Given the description of an element on the screen output the (x, y) to click on. 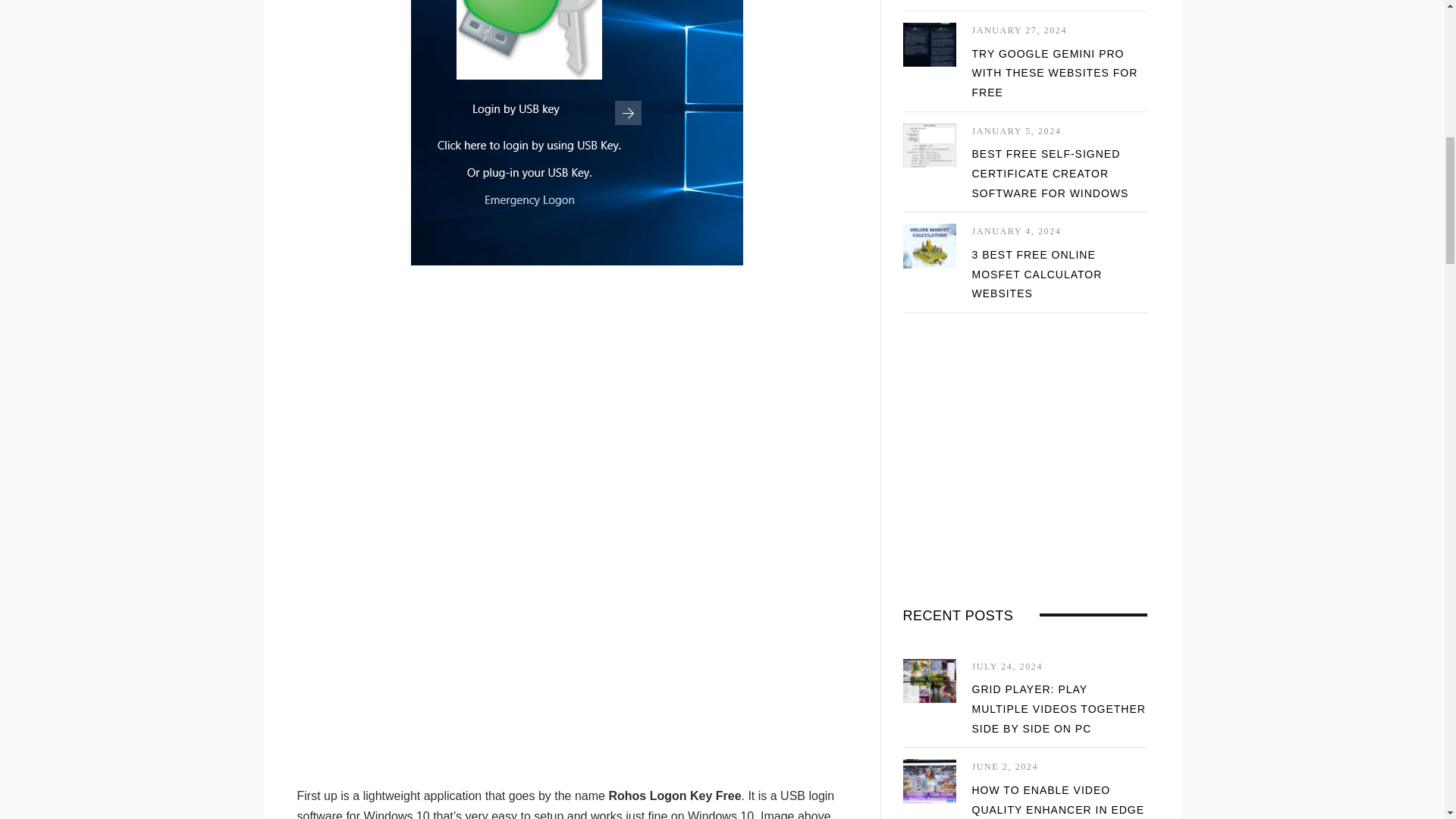
Advertisement (577, 652)
